Given the description of an element on the screen output the (x, y) to click on. 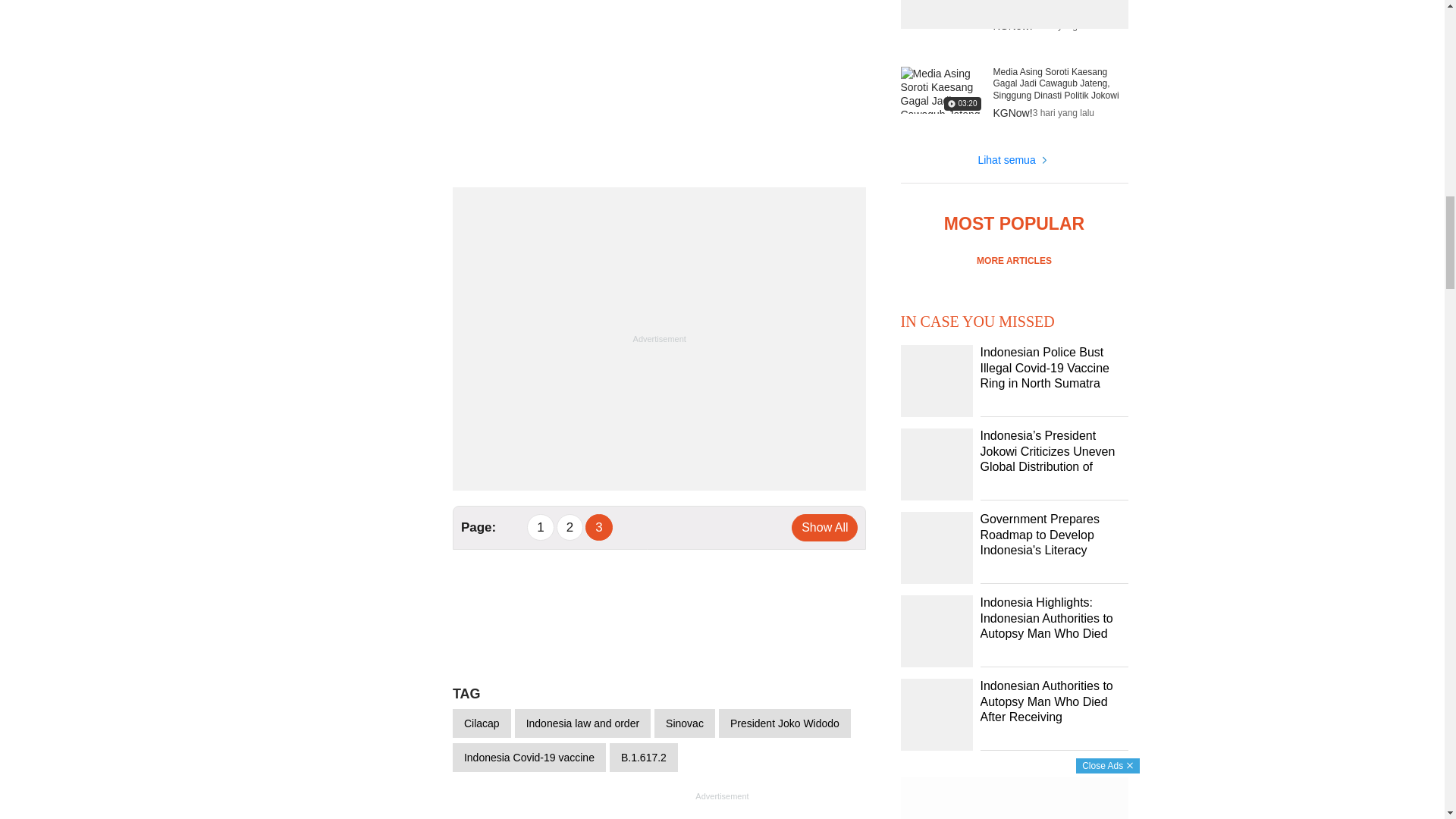
President Joko Widodo (784, 723)
Indonesia law and order (582, 723)
Indonesia Covid-19 vaccine (528, 757)
B.1.617.2 (644, 757)
Cilacap (481, 723)
Sinovac (683, 723)
